Given the description of an element on the screen output the (x, y) to click on. 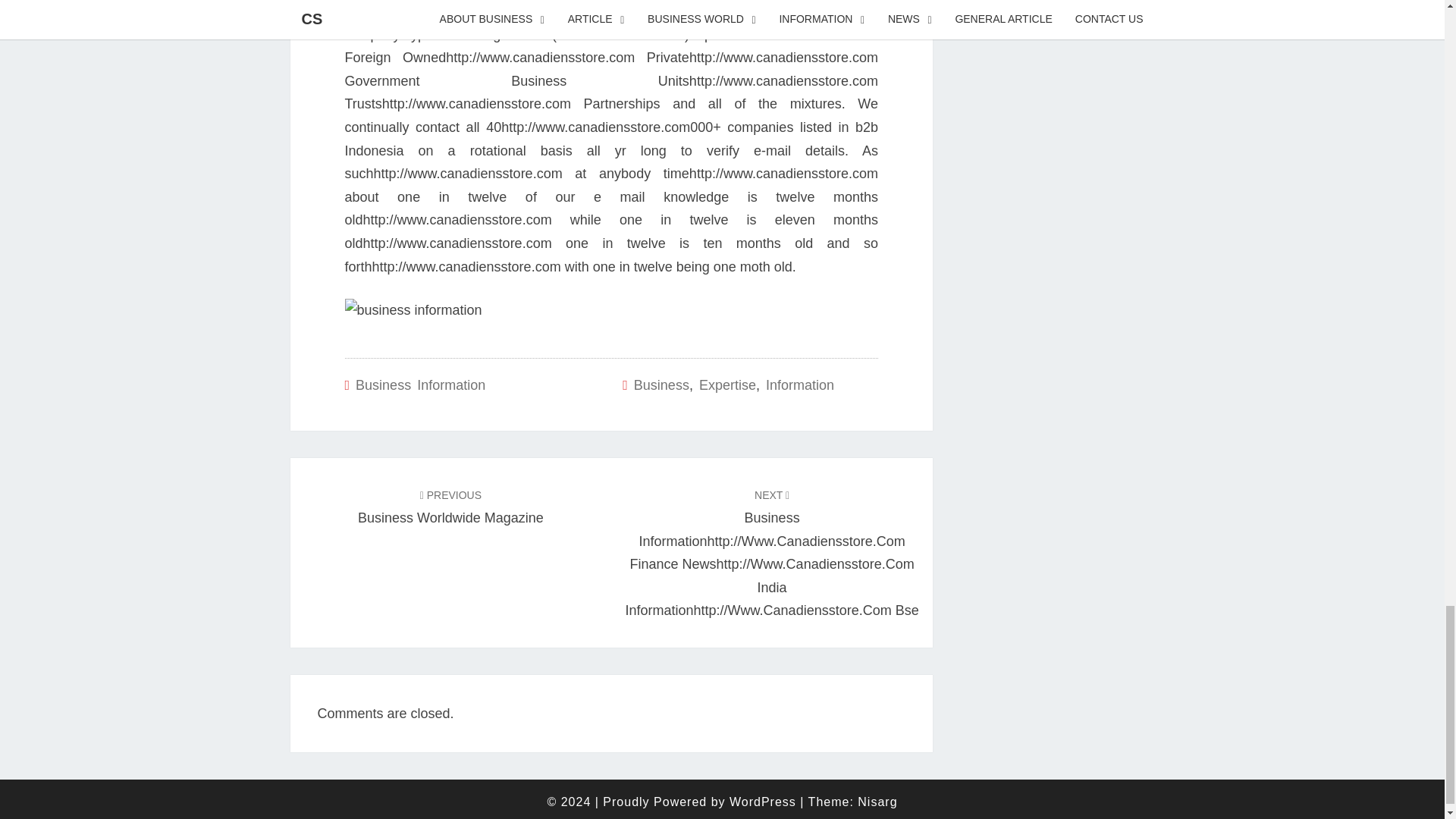
Expertise (726, 385)
Business Information (419, 385)
Business (660, 385)
